Given the description of an element on the screen output the (x, y) to click on. 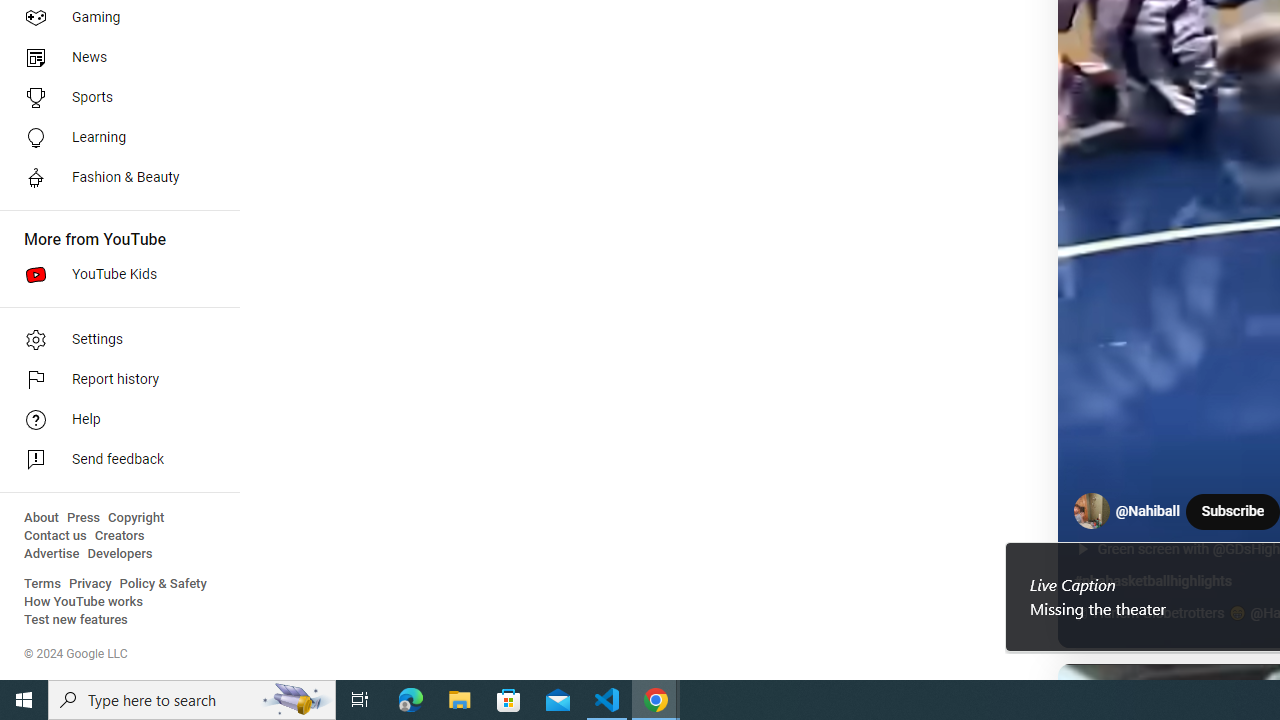
Report history (113, 380)
How YouTube works (83, 602)
Fashion & Beauty (113, 177)
Contact us (55, 536)
Help (113, 419)
Copyright (136, 518)
News (113, 57)
About (41, 518)
Advertise (51, 554)
YouTube Kids (113, 274)
